Given the description of an element on the screen output the (x, y) to click on. 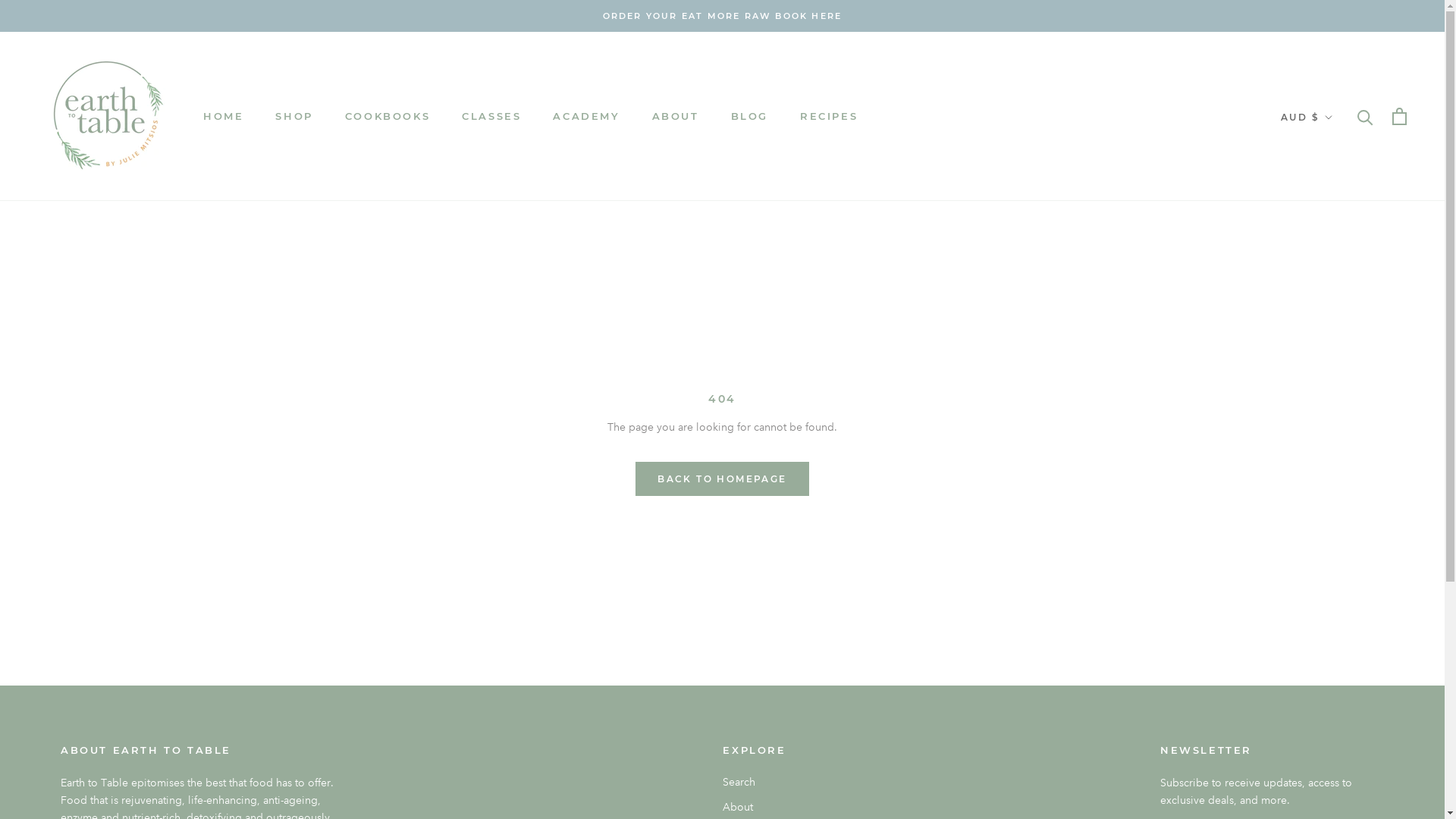
CHF Element type: text (1335, 602)
Search Element type: text (753, 782)
DOP Element type: text (1335, 760)
CZK Element type: text (1335, 693)
RECIPES
RECIPES Element type: text (828, 115)
CRC Element type: text (1335, 648)
ACADEMY Element type: text (585, 115)
BGN Element type: text (1335, 399)
BWP Element type: text (1335, 512)
CLASSES
CLASSES Element type: text (490, 115)
SHOP
SHOP Element type: text (293, 115)
BBD Element type: text (1335, 354)
AWG Element type: text (1335, 286)
BAM Element type: text (1335, 331)
ANG Element type: text (1335, 241)
BOB Element type: text (1335, 467)
BZD Element type: text (1335, 535)
EGP Element type: text (1335, 806)
CVE Element type: text (1335, 670)
ALL Element type: text (1335, 196)
ABOUT
ABOUT Element type: text (675, 115)
COOKBOOKS Element type: text (387, 115)
AFN Element type: text (1335, 173)
AUD Element type: text (1335, 264)
HOME
HOME Element type: text (223, 115)
BACK TO HOMEPAGE Element type: text (721, 478)
CNY Element type: text (1335, 625)
BLOG
BLOG Element type: text (749, 115)
BIF Element type: text (1335, 422)
AUD $ Element type: text (1306, 117)
AMD Element type: text (1335, 218)
CDF Element type: text (1335, 580)
BDT Element type: text (1335, 376)
AED Element type: text (1335, 151)
BND Element type: text (1335, 444)
DJF Element type: text (1335, 715)
AZN Element type: text (1335, 309)
DKK Element type: text (1335, 738)
ORDER YOUR EAT MORE RAW BOOK HERE Element type: text (722, 15)
DZD Element type: text (1335, 783)
About Element type: text (753, 807)
BSD Element type: text (1335, 489)
CAD Element type: text (1335, 557)
